Given the description of an element on the screen output the (x, y) to click on. 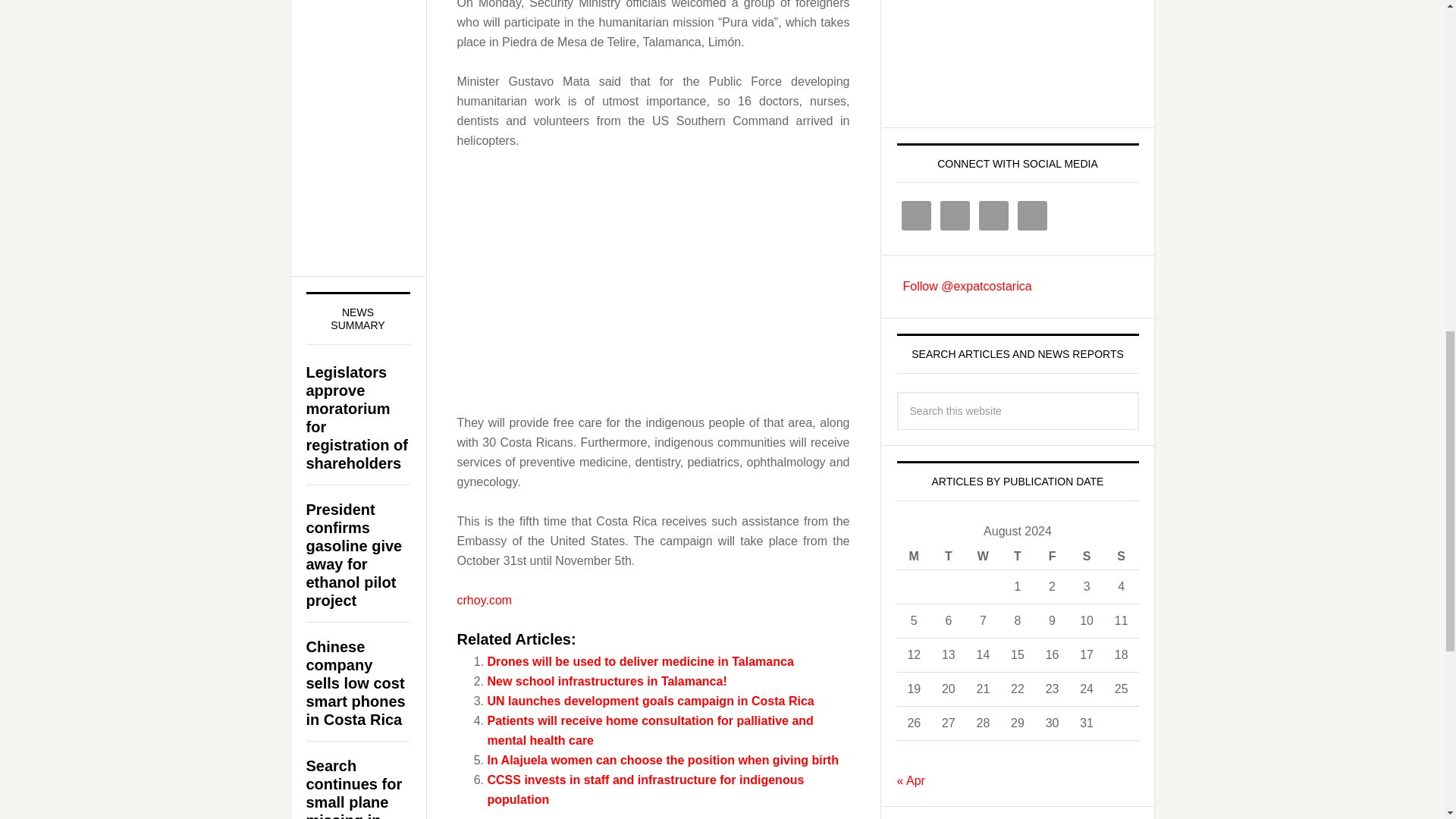
Wednesday (983, 556)
Chinese company sells low cost smart phones in Costa Rica (355, 683)
Saturday (1085, 556)
Drones will be used to deliver medicine in Talamanca (639, 661)
Advertisement (1010, 53)
Sunday (1120, 556)
